Given the description of an element on the screen output the (x, y) to click on. 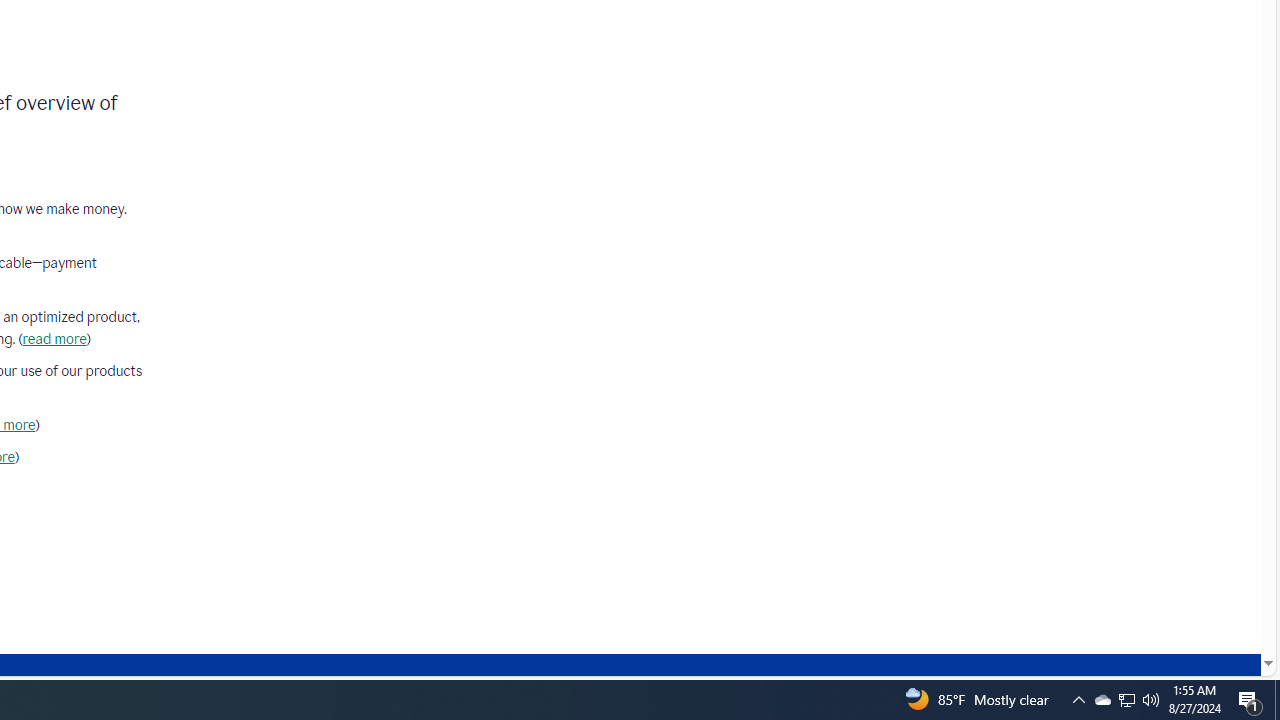
read more (54, 339)
